Given the description of an element on the screen output the (x, y) to click on. 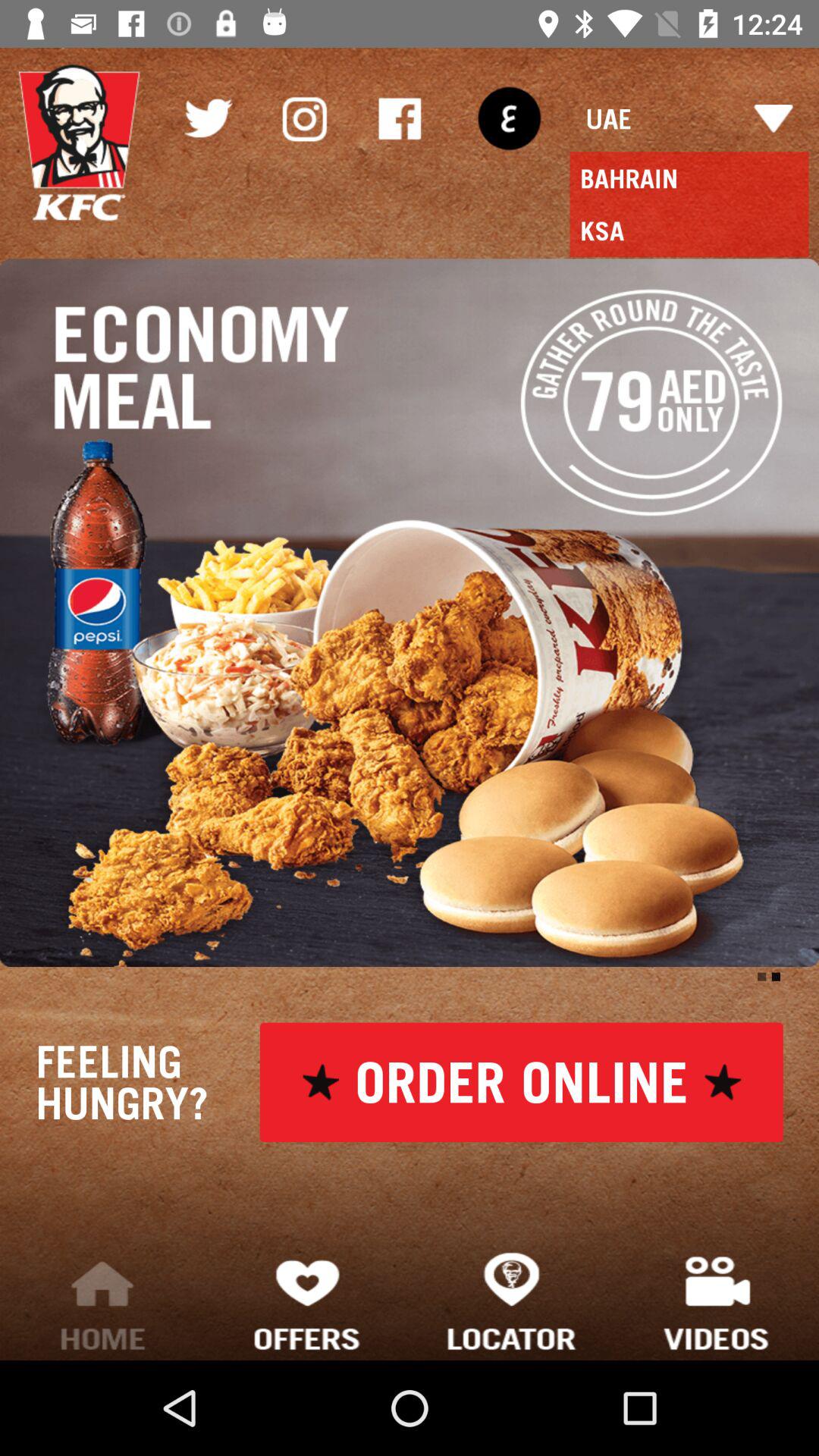
select the item below the ksa icon (409, 612)
